Given the description of an element on the screen output the (x, y) to click on. 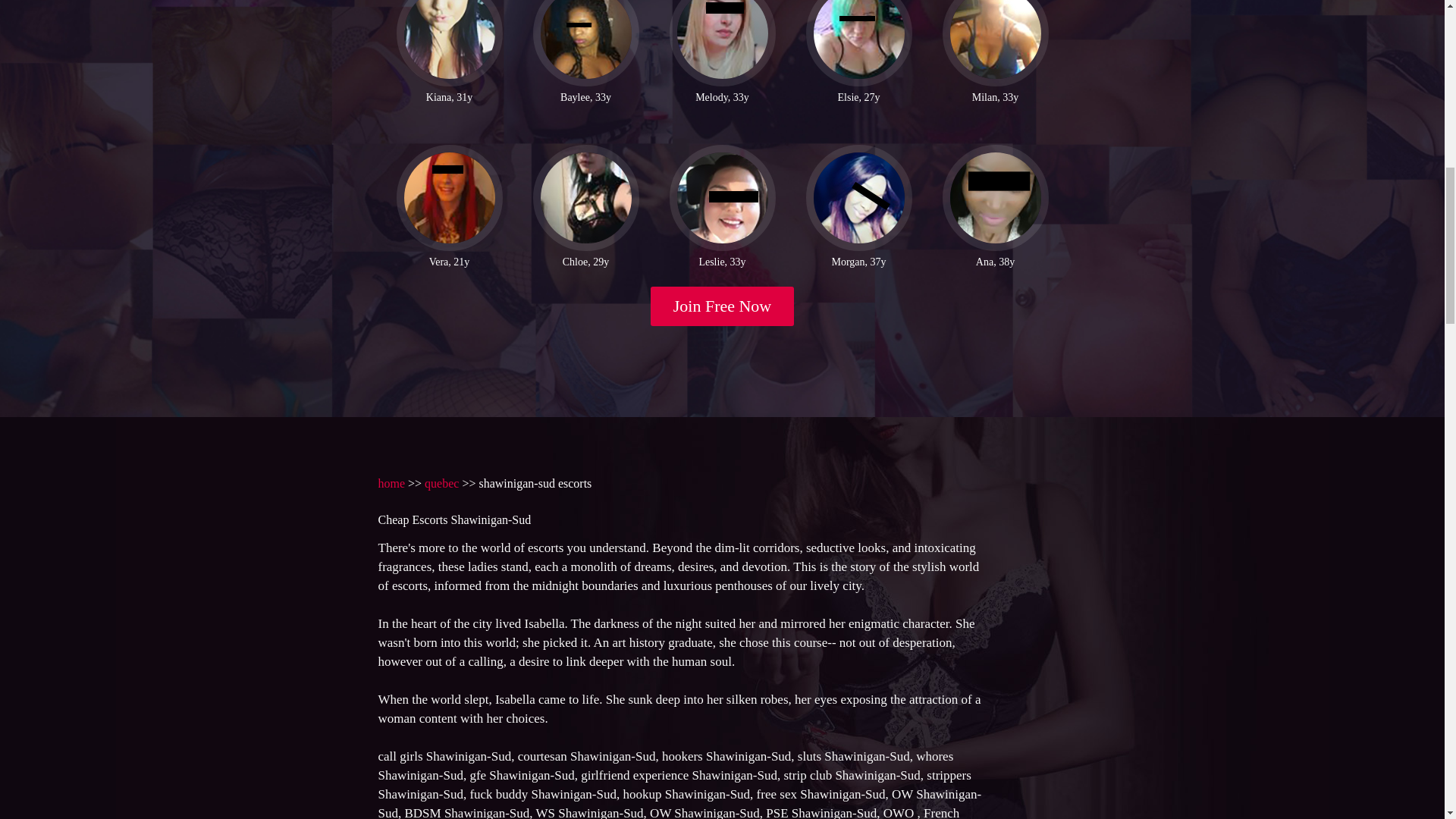
Join Free Now (722, 305)
quebec (441, 482)
Join (722, 305)
home (390, 482)
